Given the description of an element on the screen output the (x, y) to click on. 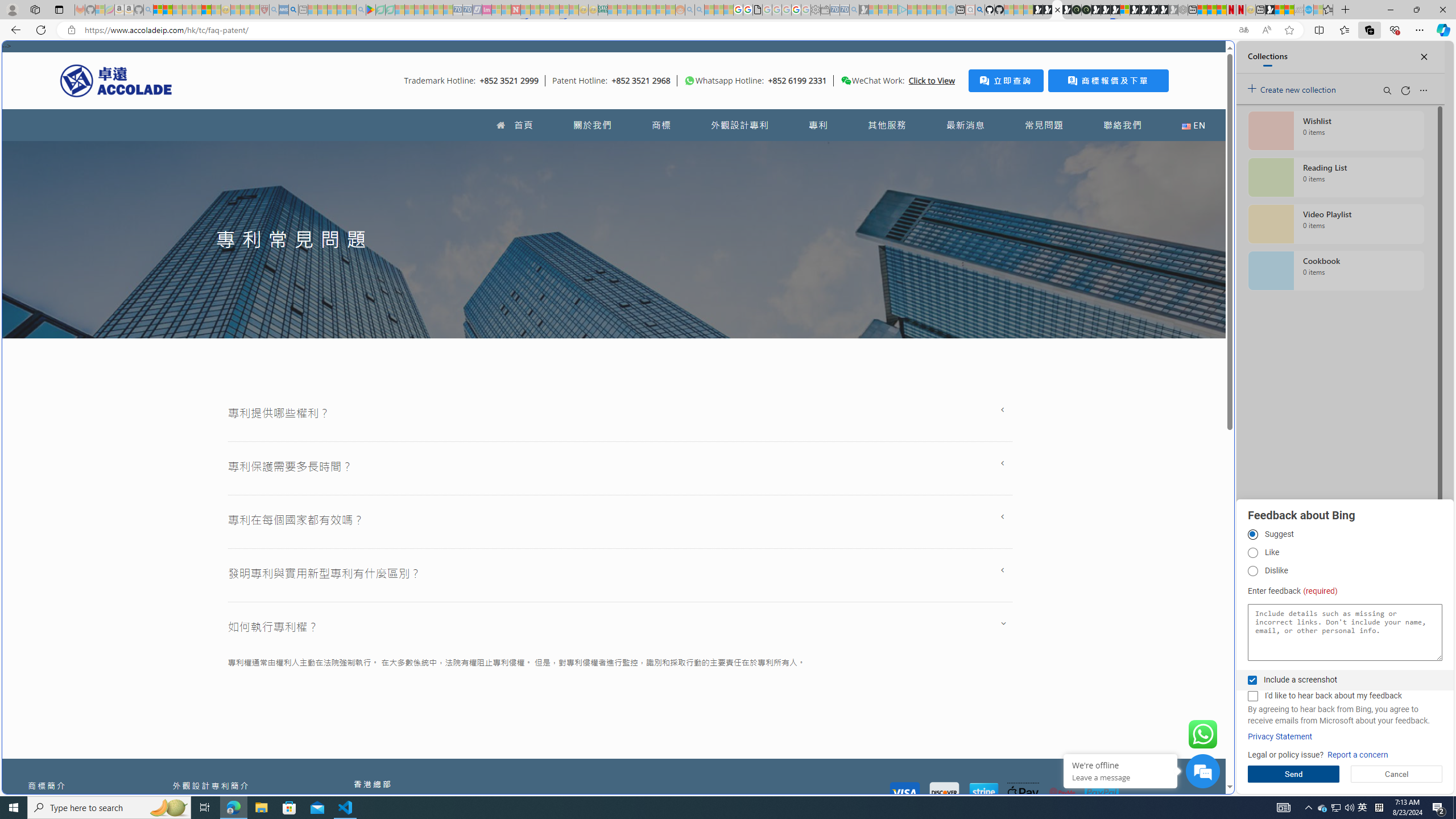
Report a concern (1358, 755)
utah sues federal government - Search (922, 389)
Suggest (1252, 534)
